Given the description of an element on the screen output the (x, y) to click on. 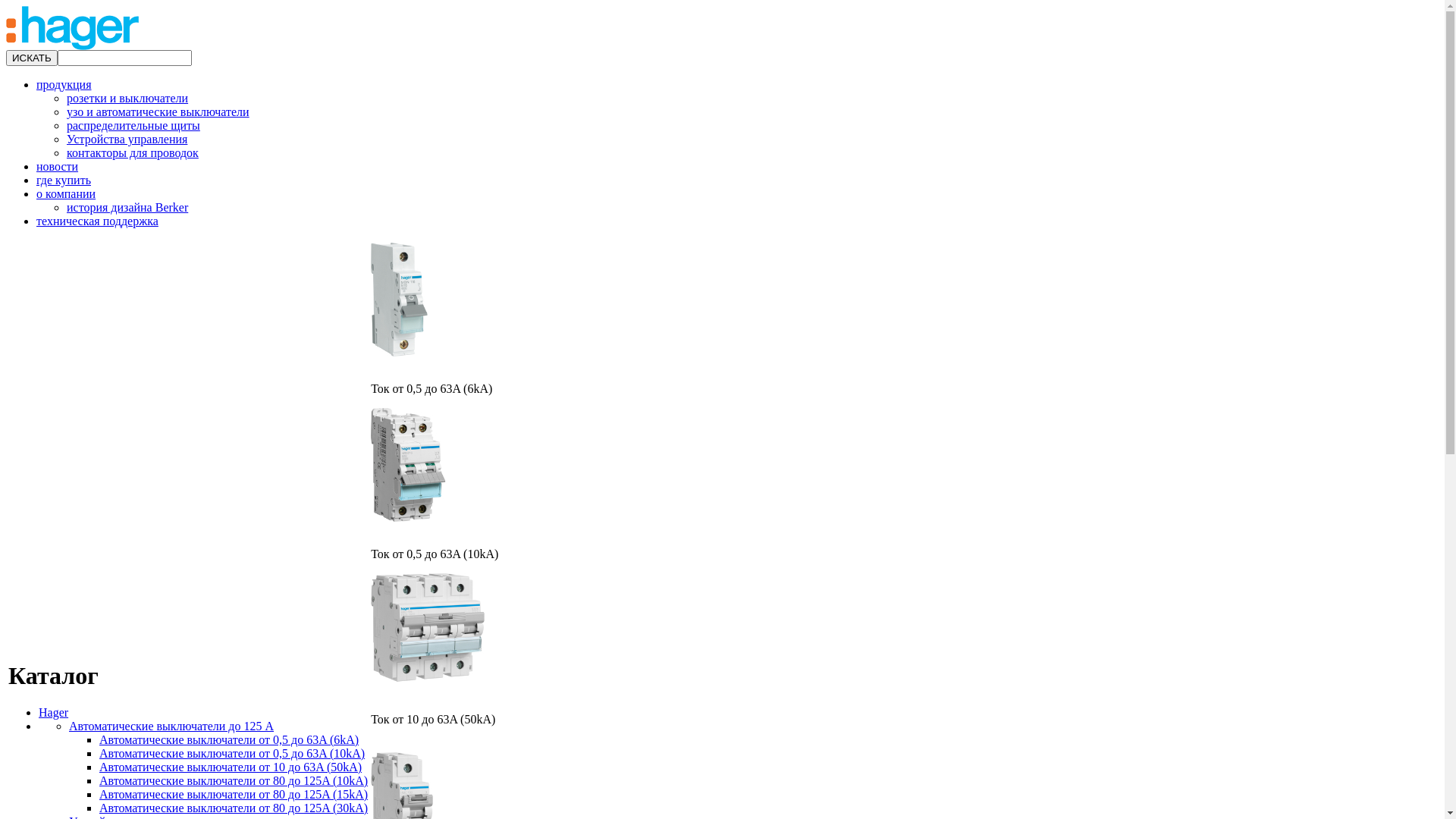
Hager Element type: text (53, 712)
Hager Element type: hover (72, 45)
